Given the description of an element on the screen output the (x, y) to click on. 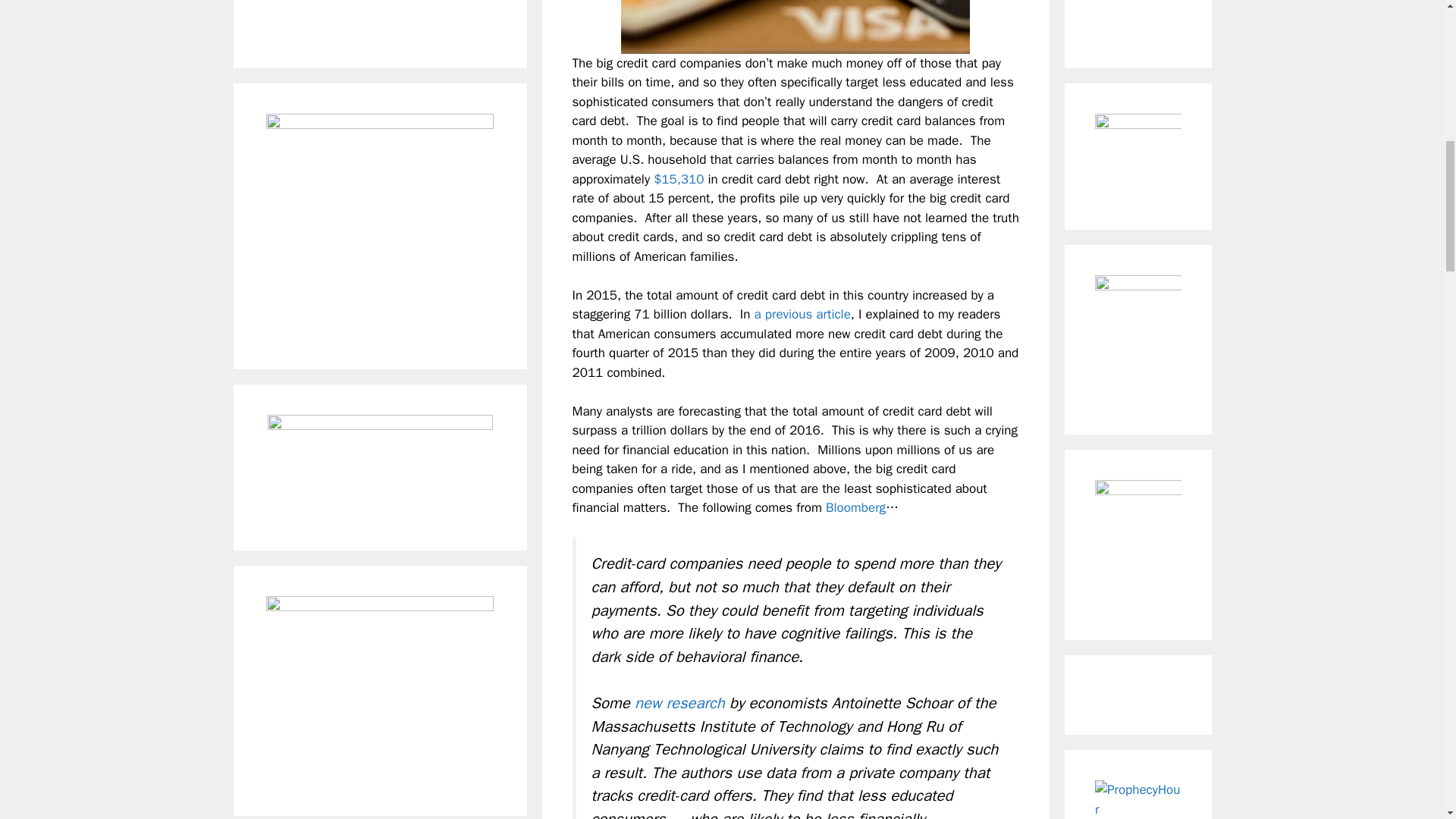
new research (679, 702)
a previous article (802, 314)
Bloomberg (855, 507)
